Given the description of an element on the screen output the (x, y) to click on. 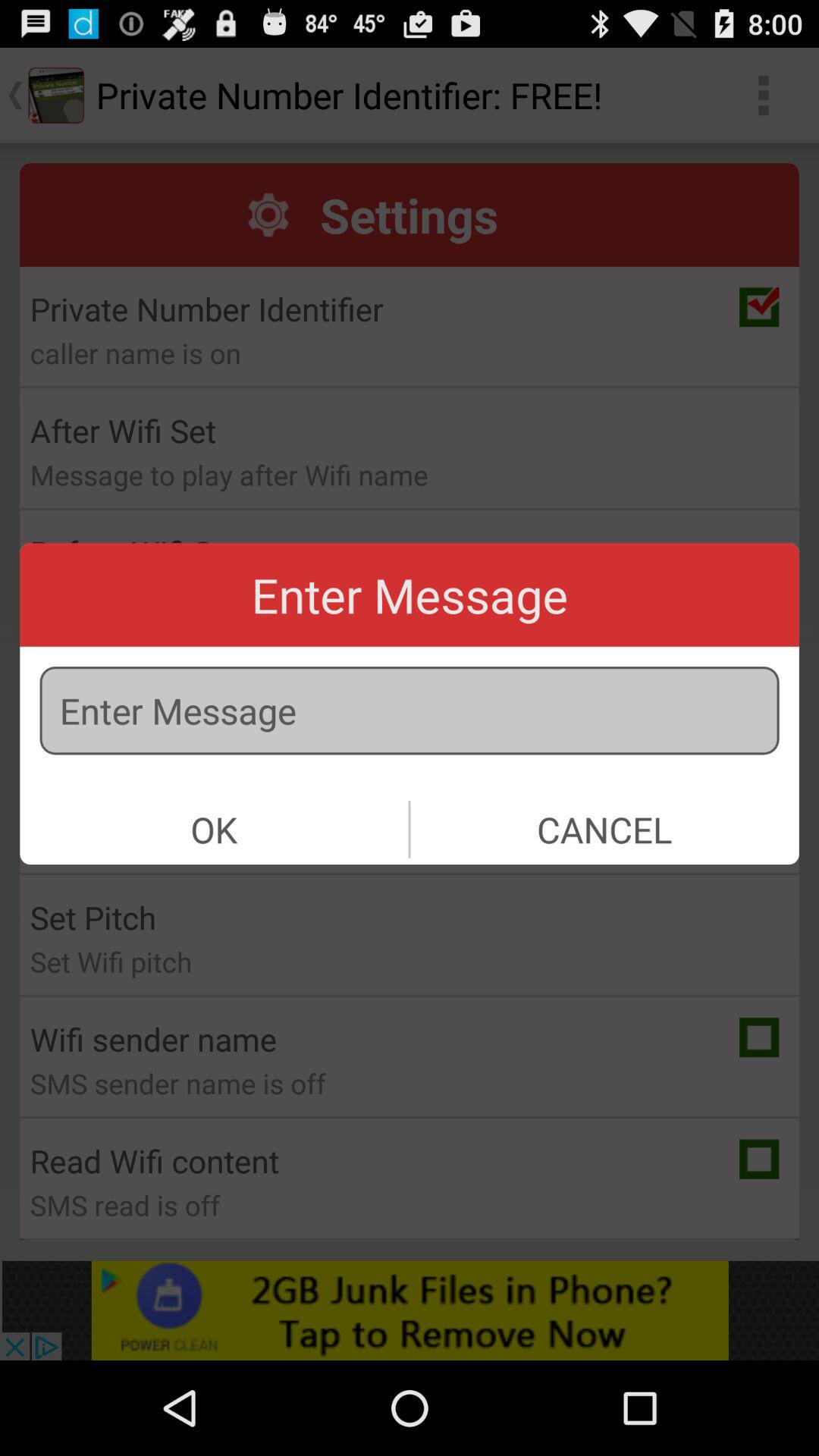
tap the cancel button (604, 829)
